Given the description of an element on the screen output the (x, y) to click on. 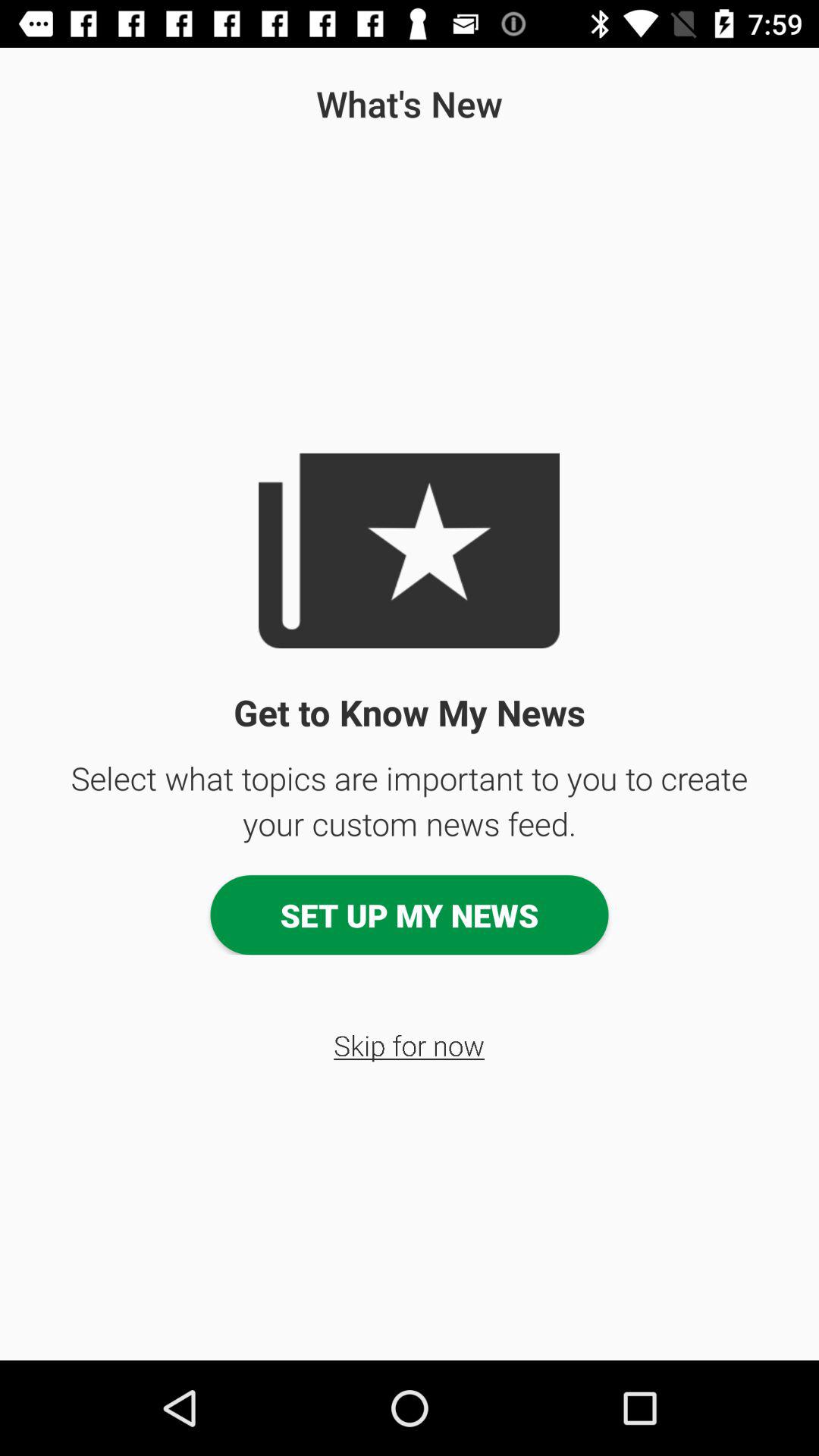
select skip for now item (409, 1044)
